Given the description of an element on the screen output the (x, y) to click on. 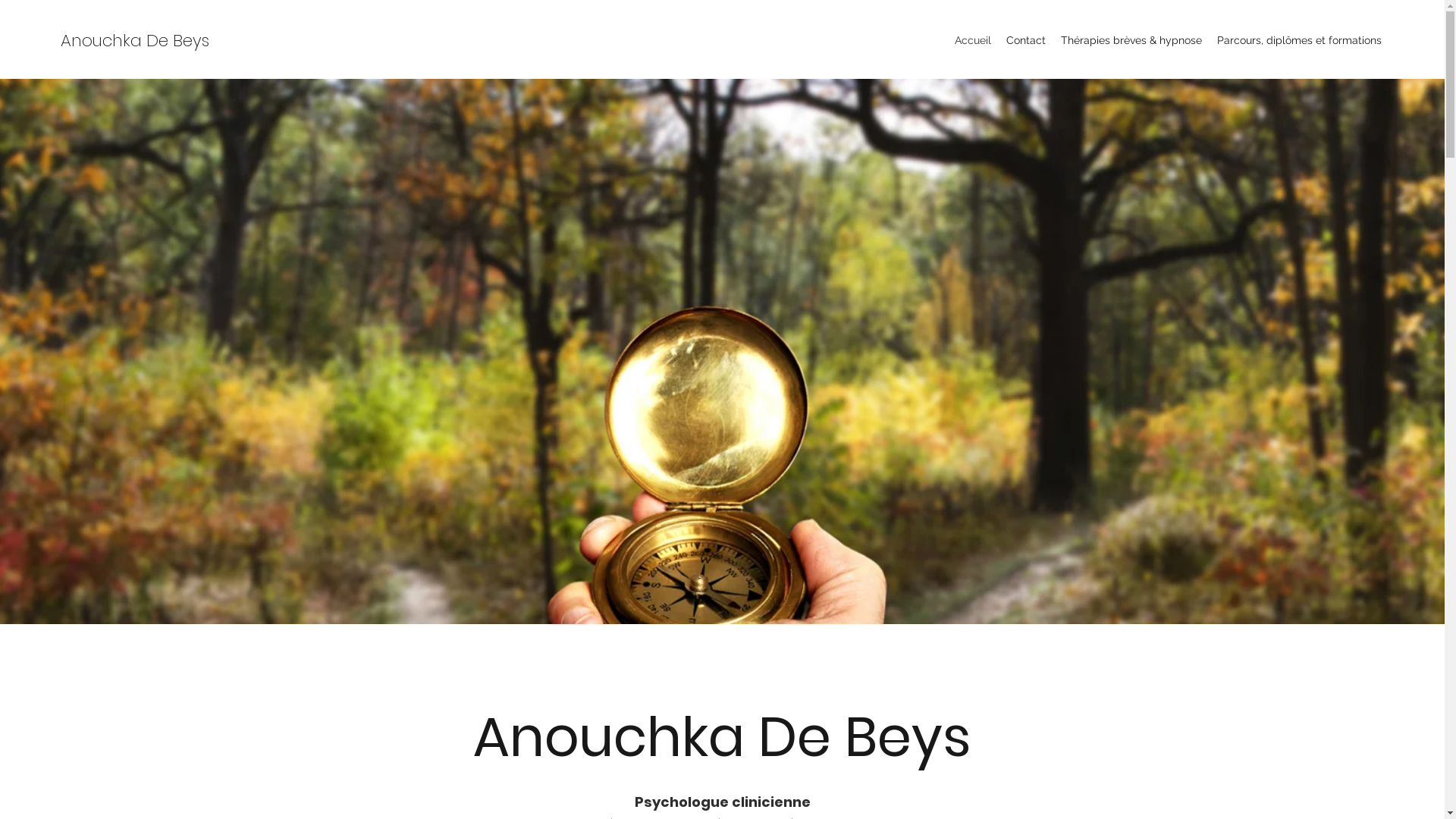
Anouchka De Beys Element type: text (134, 40)
Accueil Element type: text (972, 39)
Contact Element type: text (1025, 39)
